Given the description of an element on the screen output the (x, y) to click on. 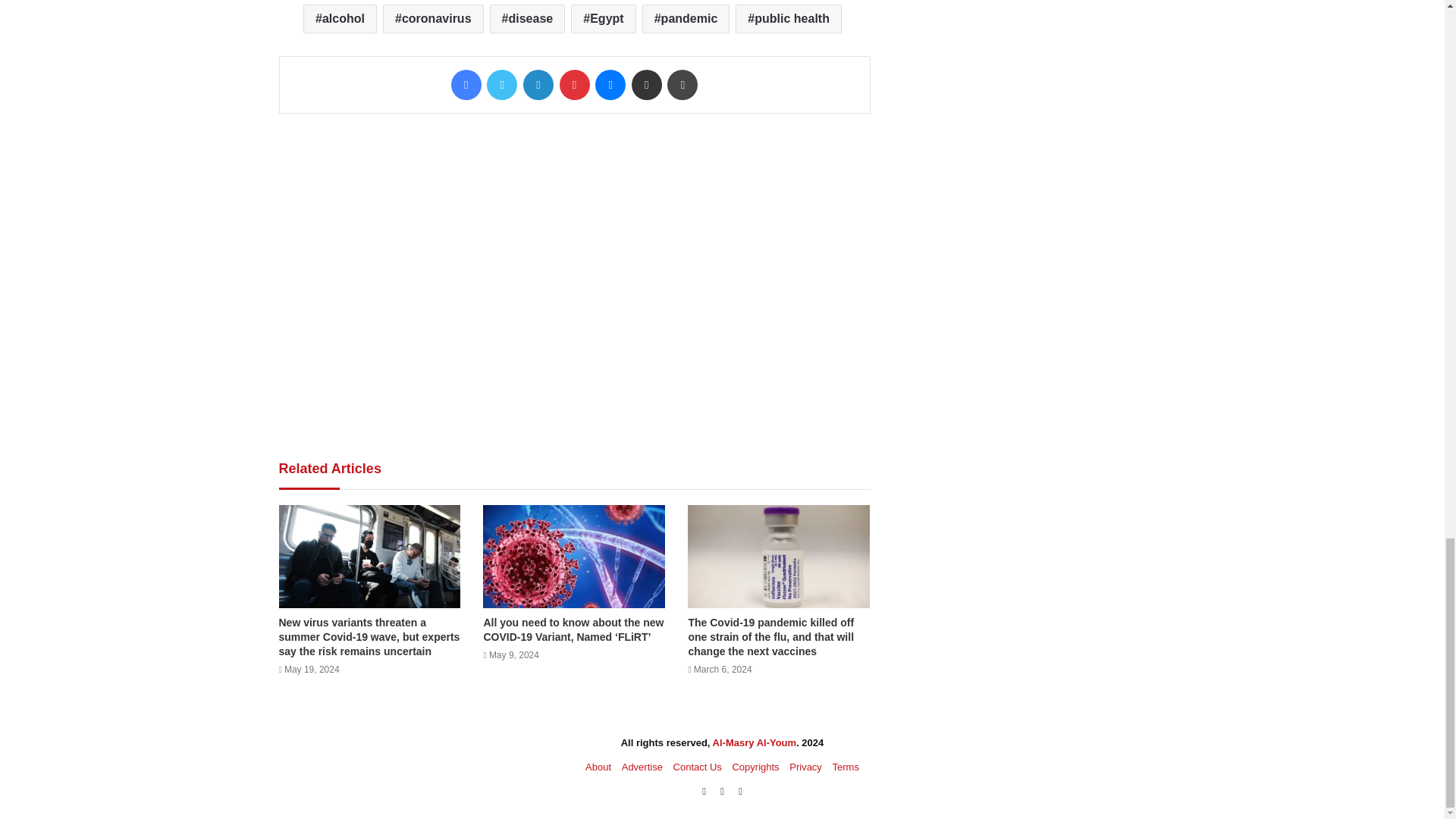
Facebook (466, 84)
Twitter (501, 84)
Messenger (610, 84)
Pinterest (574, 84)
Pinterest (574, 84)
pandemic (686, 18)
Egypt (602, 18)
Twitter (501, 84)
public health (788, 18)
coronavirus (432, 18)
alcohol (339, 18)
LinkedIn (537, 84)
disease (527, 18)
Share via Email (646, 84)
Facebook (466, 84)
